Given the description of an element on the screen output the (x, y) to click on. 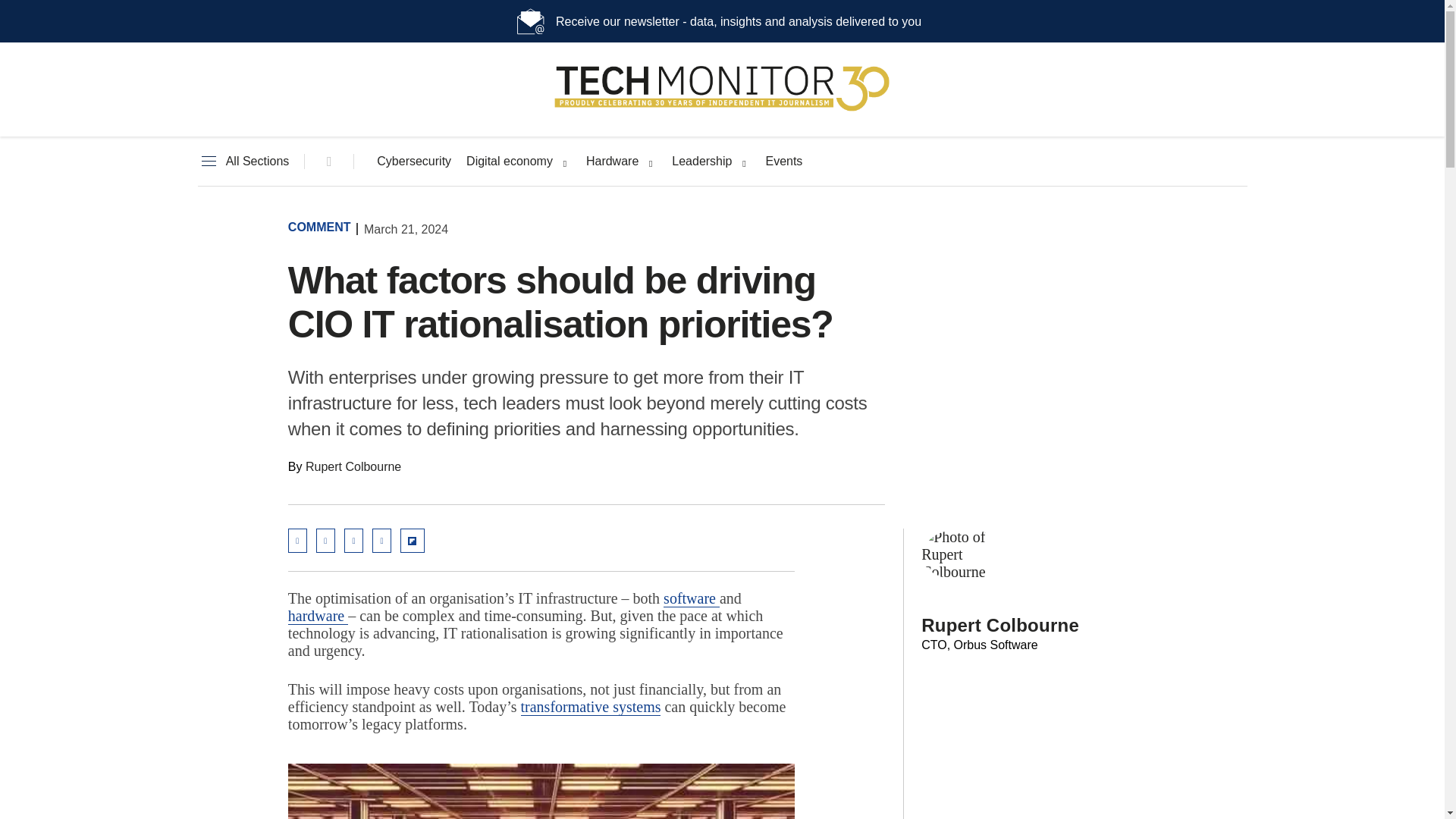
Hardware (612, 161)
Tech Monitor (722, 110)
Leadership (701, 161)
Digital economy (509, 161)
Cybersecurity (414, 161)
Share on Flipboard (412, 540)
All Sections (242, 161)
Events (783, 161)
